Given the description of an element on the screen output the (x, y) to click on. 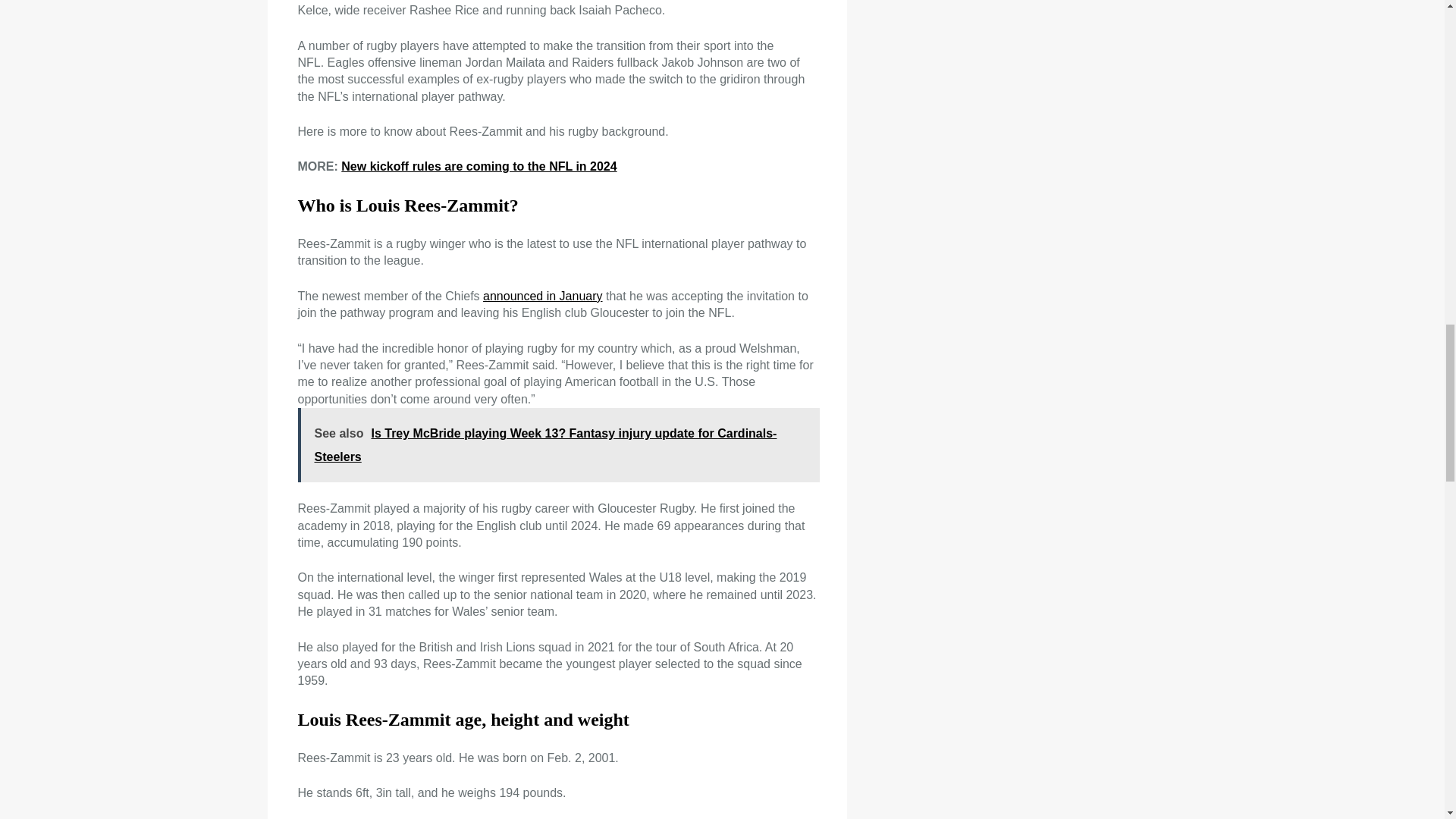
announced in January (542, 295)
New kickoff rules are coming to the NFL in 2024 (477, 165)
